Given the description of an element on the screen output the (x, y) to click on. 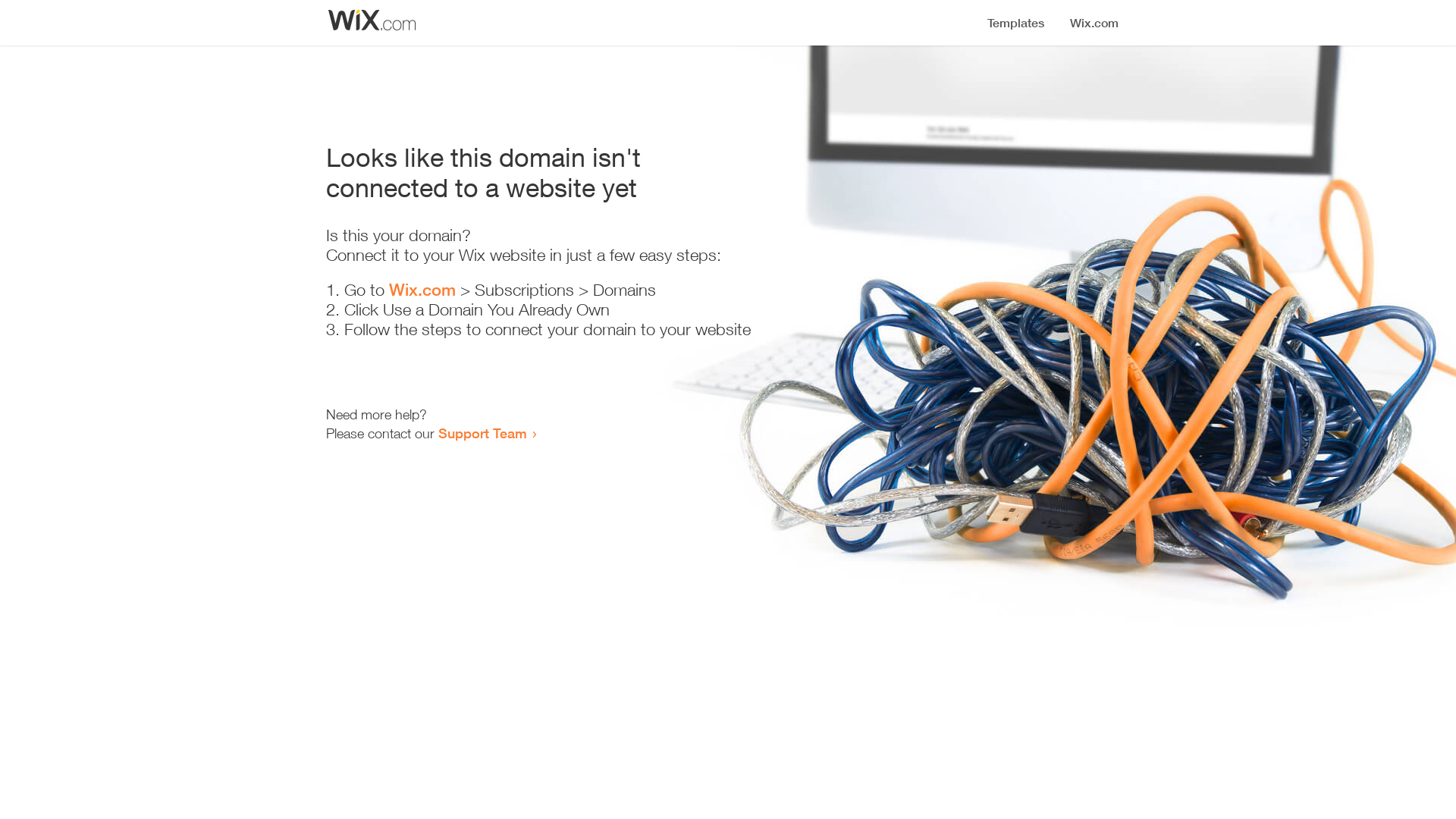
Support Team Element type: text (482, 432)
Wix.com Element type: text (422, 289)
